Given the description of an element on the screen output the (x, y) to click on. 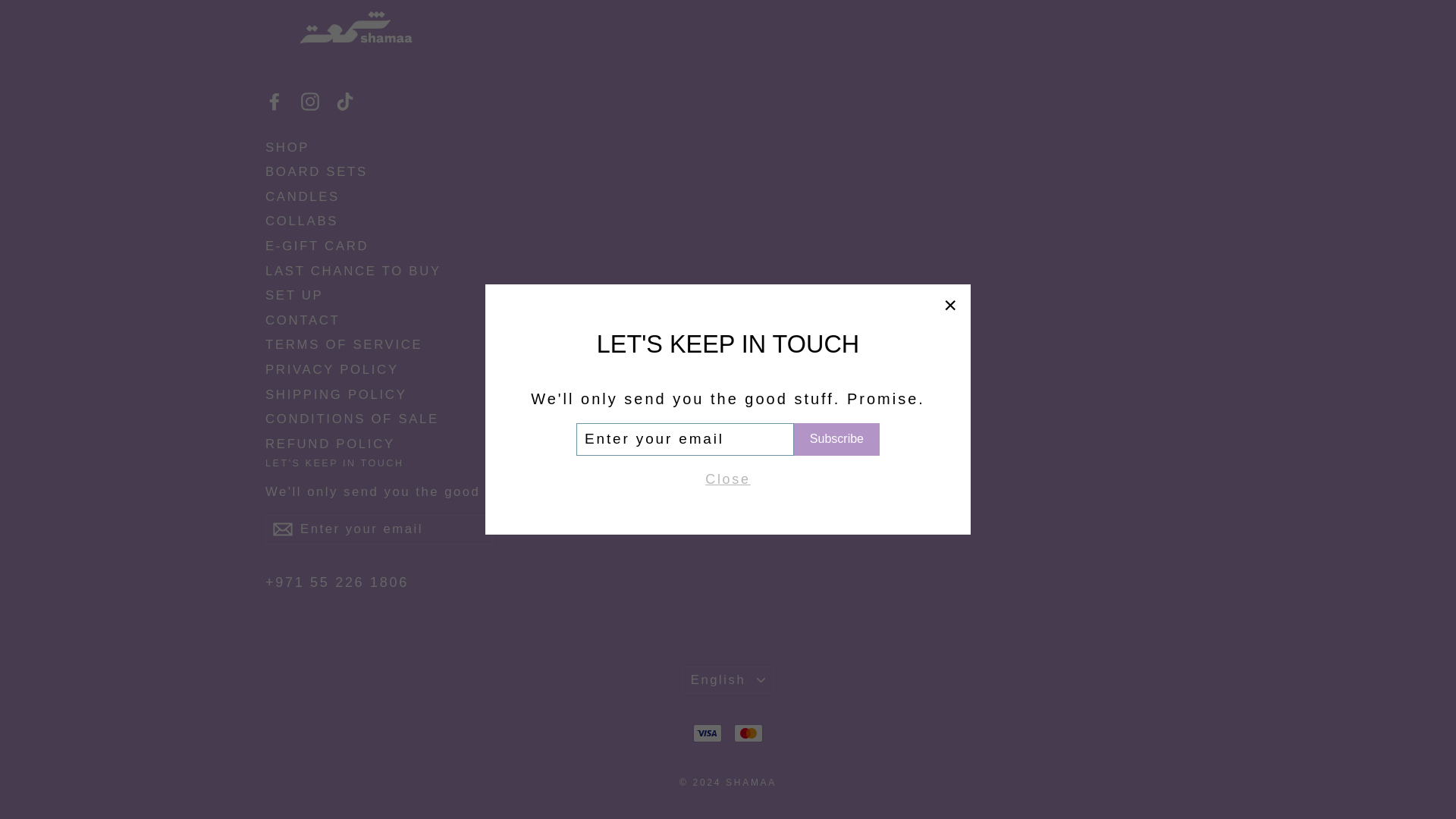
Mastercard (747, 732)
Visa (707, 732)
